Given the description of an element on the screen output the (x, y) to click on. 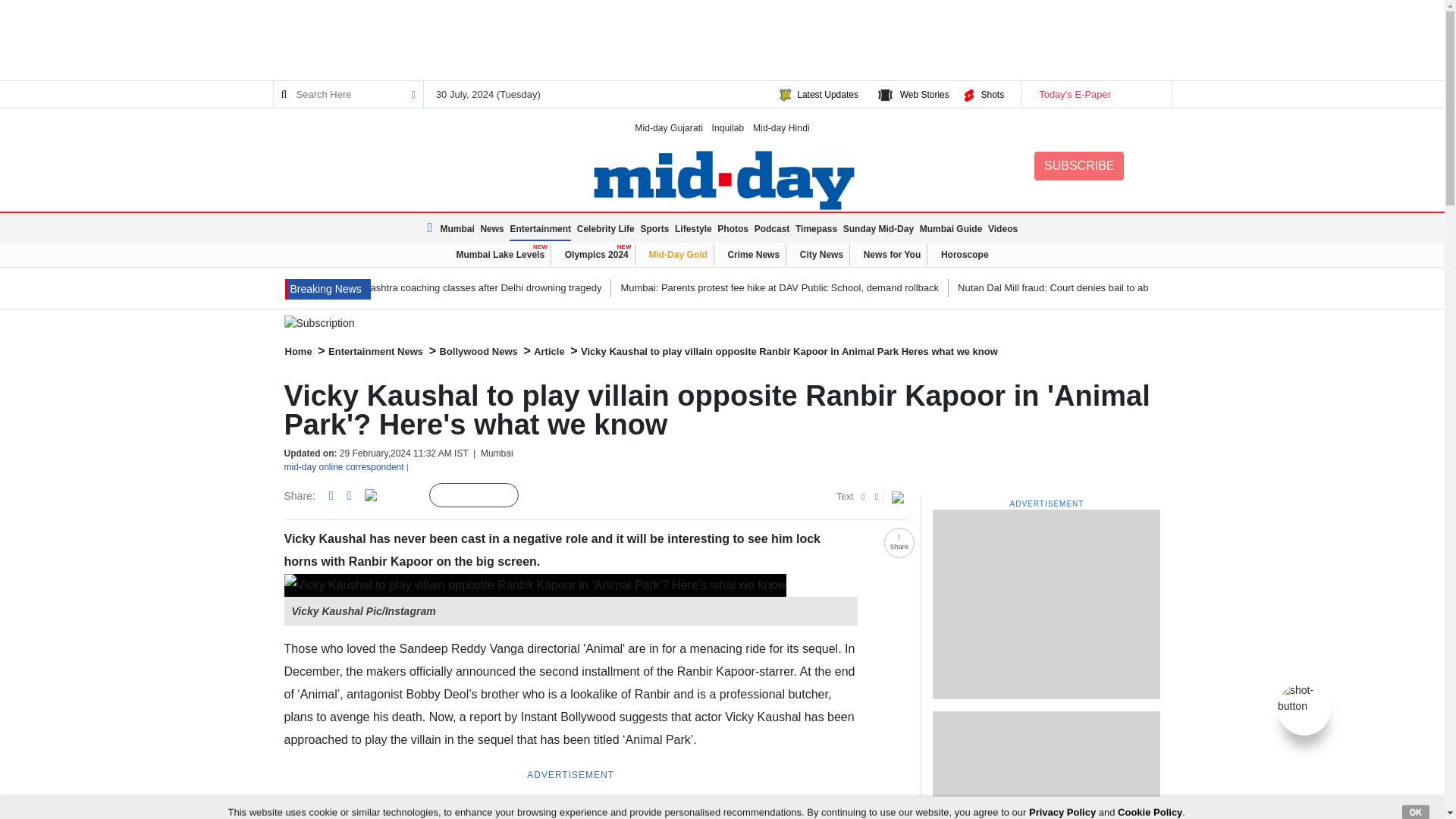
Inquilab (728, 127)
Mid-day Hindi (780, 127)
Latest Updates (827, 94)
Latest News (328, 289)
Today's E-Paper (1095, 94)
Subscription (721, 323)
Midday Shot Videos (1304, 697)
Shots (991, 94)
Quick Reads (543, 495)
SUBSCRIBE (1078, 165)
Web Stories (924, 94)
Mid-day Gujarati (668, 127)
Latest News (432, 227)
